Given the description of an element on the screen output the (x, y) to click on. 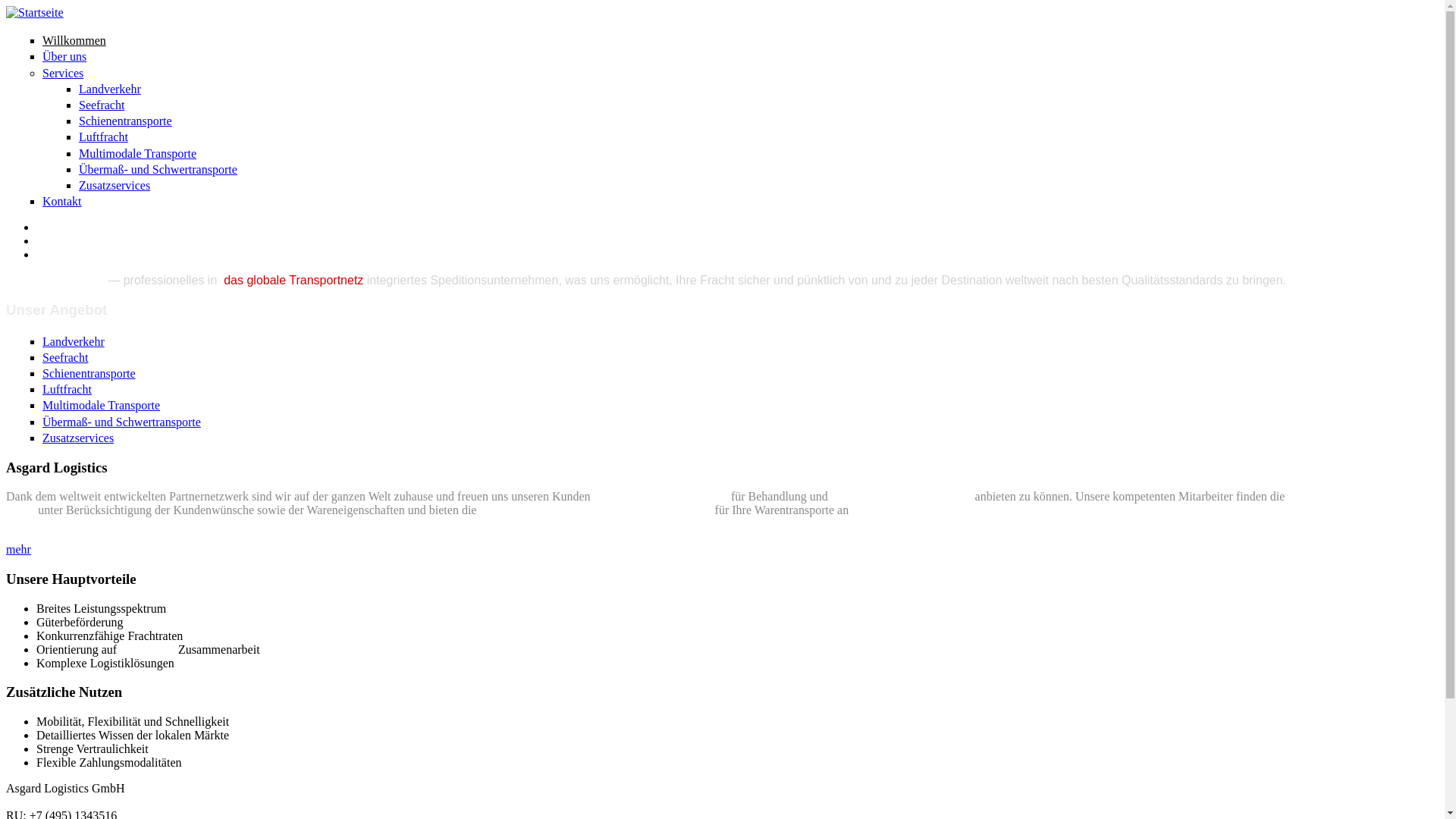
Services Element type: text (62, 72)
Landverkehr Element type: text (73, 341)
Multimodale Transporte Element type: text (101, 404)
Willkommen Element type: text (74, 40)
Zusatzservices Element type: text (114, 184)
Schienentransporte Element type: text (125, 120)
Kontakt Element type: text (61, 200)
Seefracht Element type: text (64, 357)
Luftfracht Element type: text (66, 388)
Landverkehr Element type: text (109, 88)
mehr Element type: text (18, 548)
Schienentransporte Element type: text (88, 373)
Multimodale Transporte Element type: text (137, 153)
Startseite Element type: hover (34, 12)
Zusatzservices Element type: text (77, 437)
Seefracht Element type: text (101, 104)
Luftfracht Element type: text (103, 136)
Direkt zum Inhalt Element type: text (49, 6)
